Given the description of an element on the screen output the (x, y) to click on. 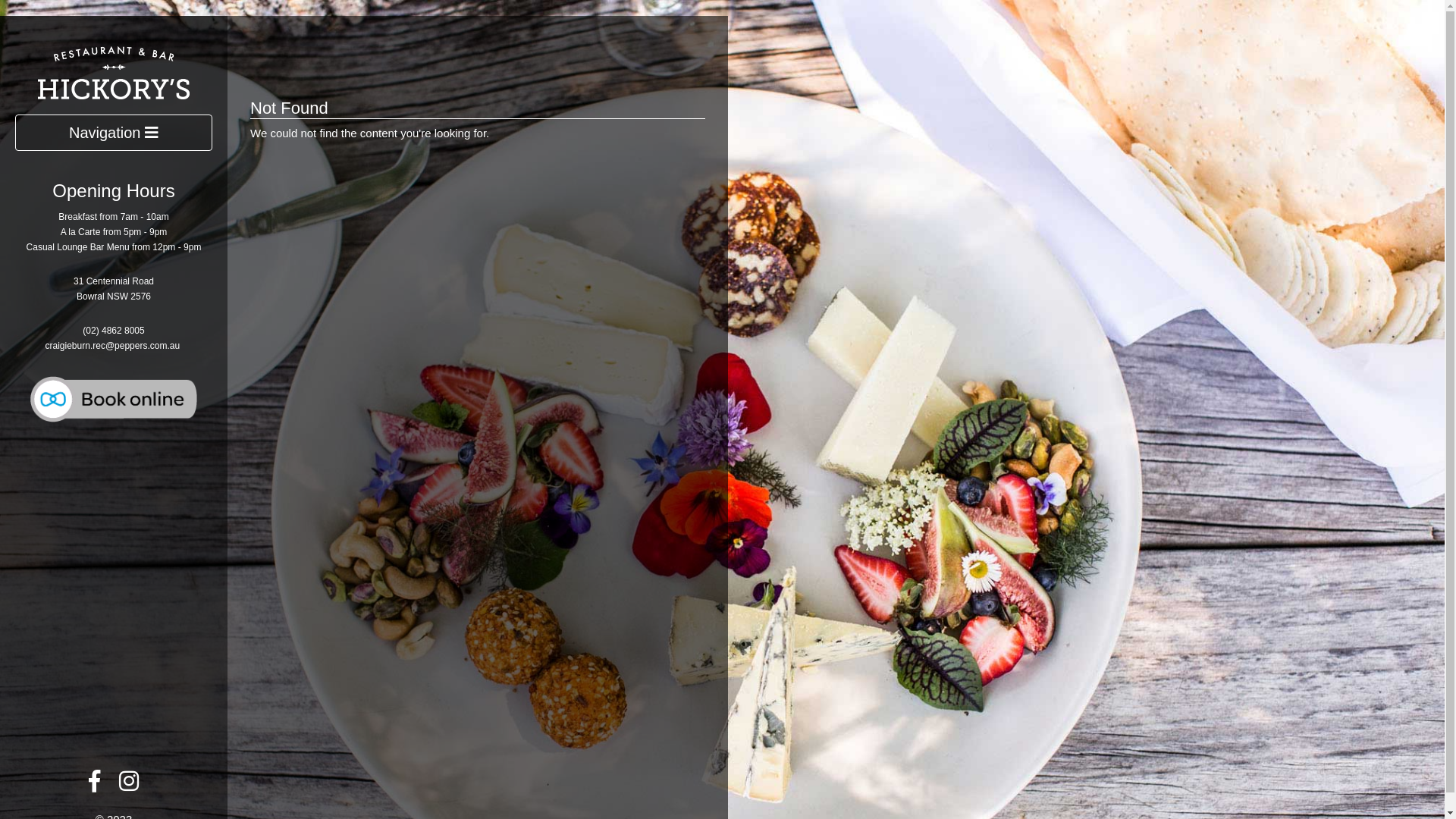
craigieburn.rec@peppers.com.au Element type: text (112, 345)
(02) 4862 8005 Element type: text (113, 330)
Facebook Element type: hover (94, 784)
Hickorys Restaurant & Bar Element type: hover (113, 71)
Navigation Element type: text (113, 132)
Instagram Element type: hover (128, 784)
